Given the description of an element on the screen output the (x, y) to click on. 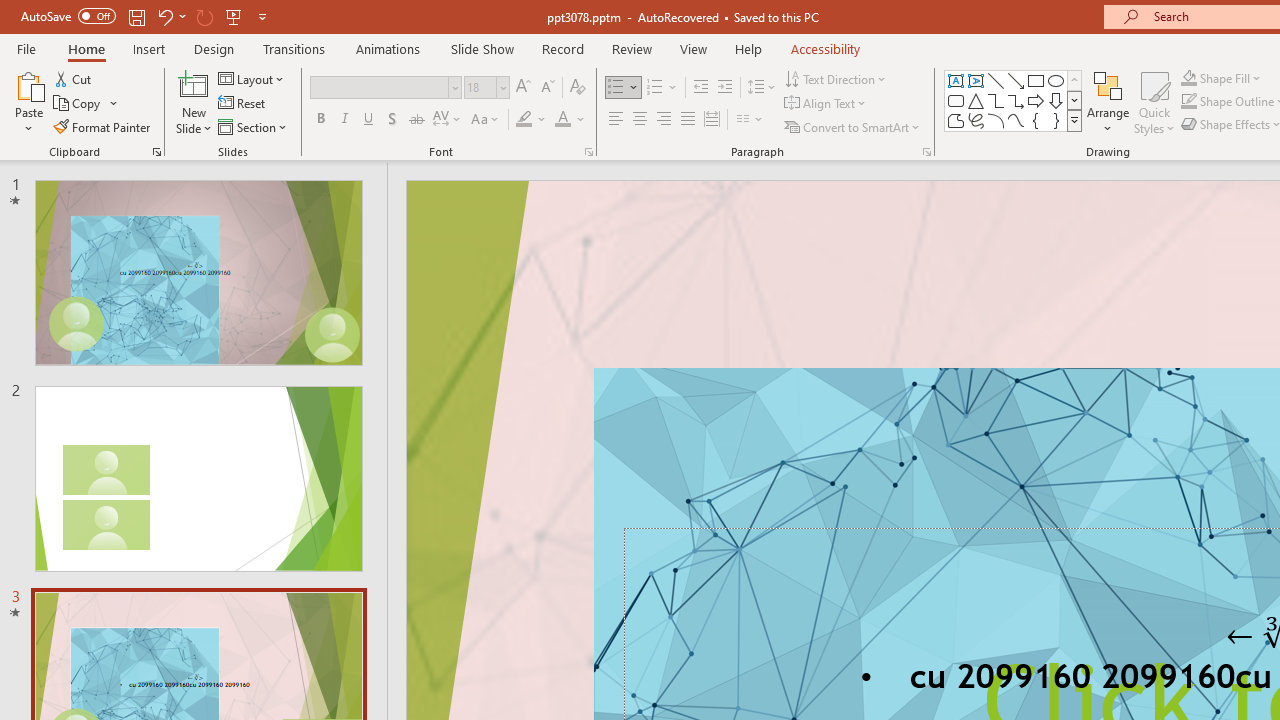
Shape Outline Green, Accent 1 (1188, 101)
